Given the description of an element on the screen output the (x, y) to click on. 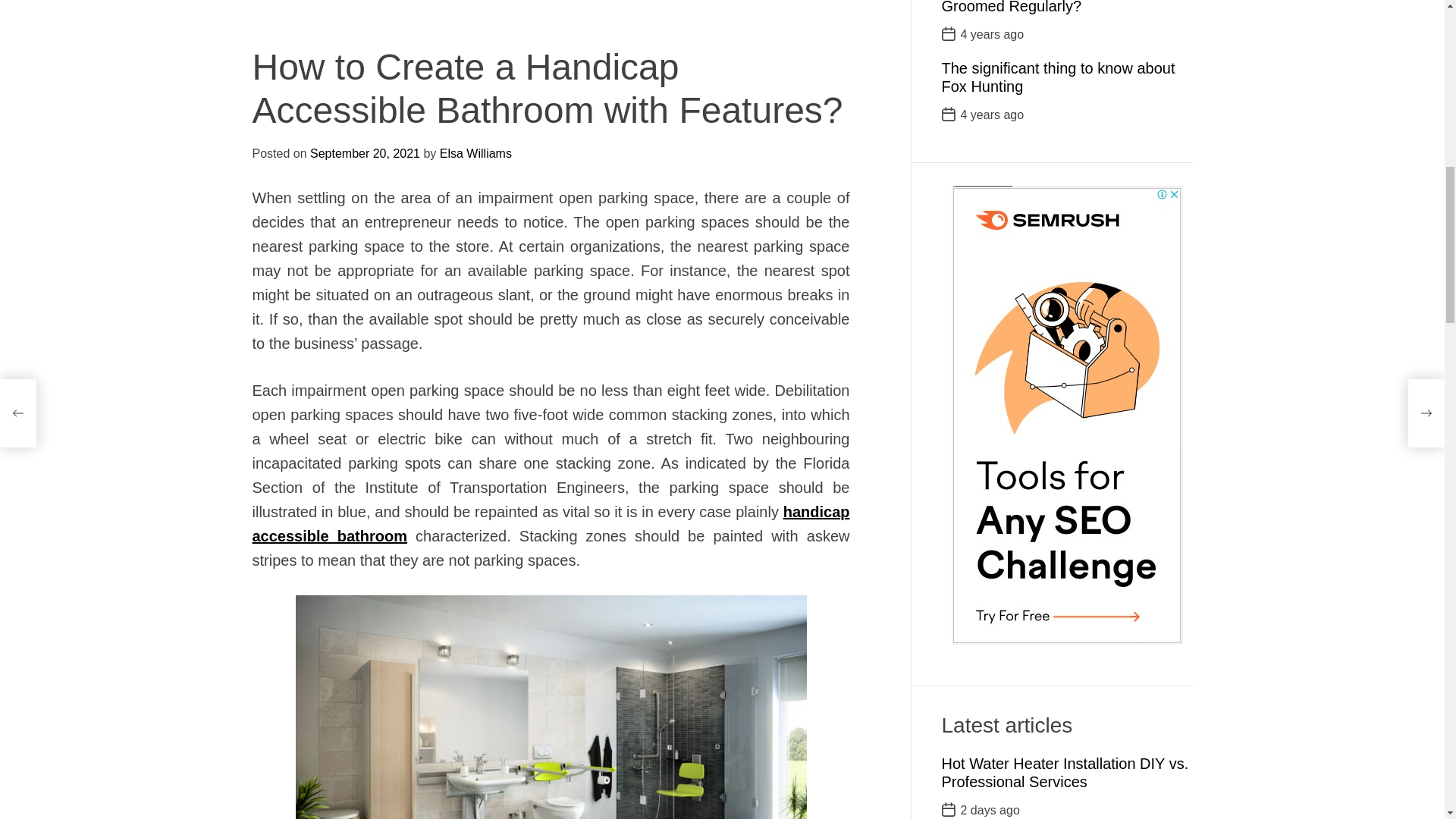
handicap accessible bathroom (549, 18)
